Given the description of an element on the screen output the (x, y) to click on. 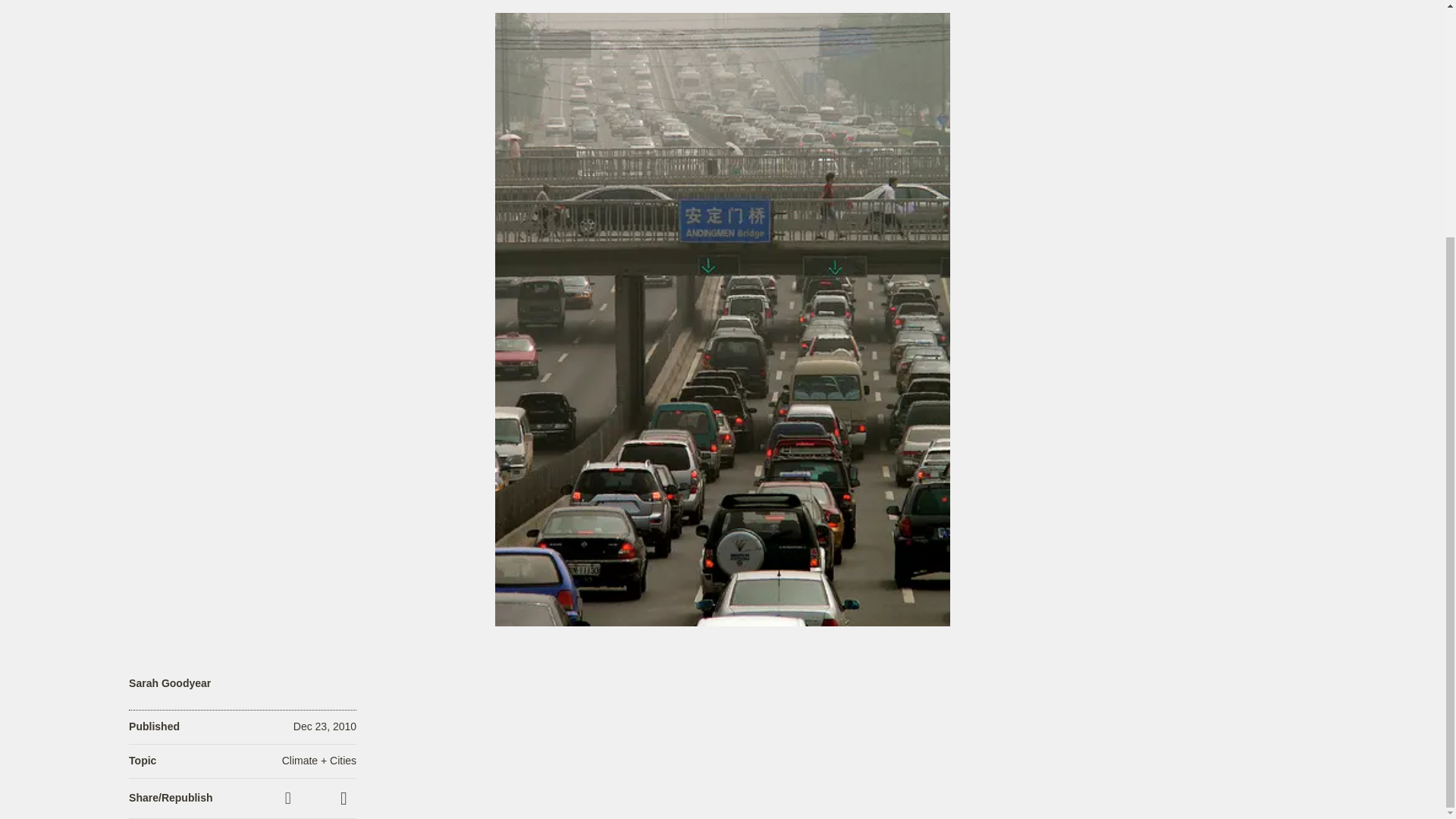
Copy article link (289, 797)
Sarah Goodyear (170, 683)
Republish the article (316, 798)
